Given the description of an element on the screen output the (x, y) to click on. 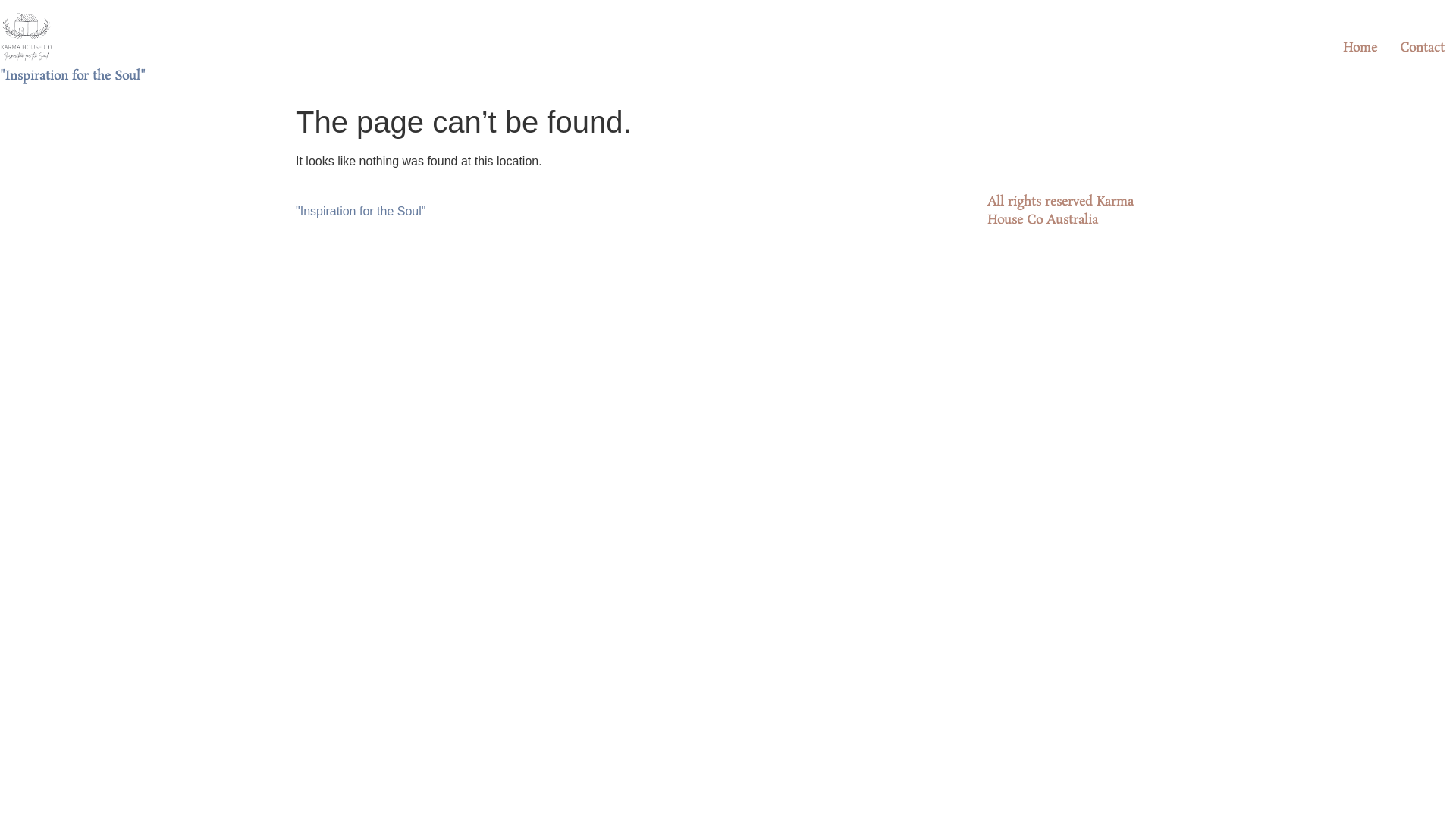
Home Element type: text (1359, 48)
